Given the description of an element on the screen output the (x, y) to click on. 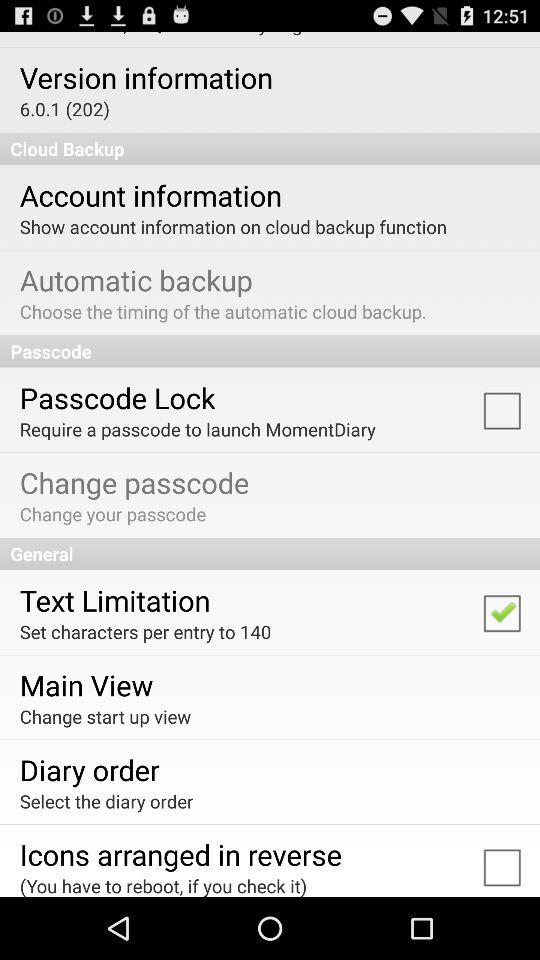
click the app below diary order app (106, 800)
